Given the description of an element on the screen output the (x, y) to click on. 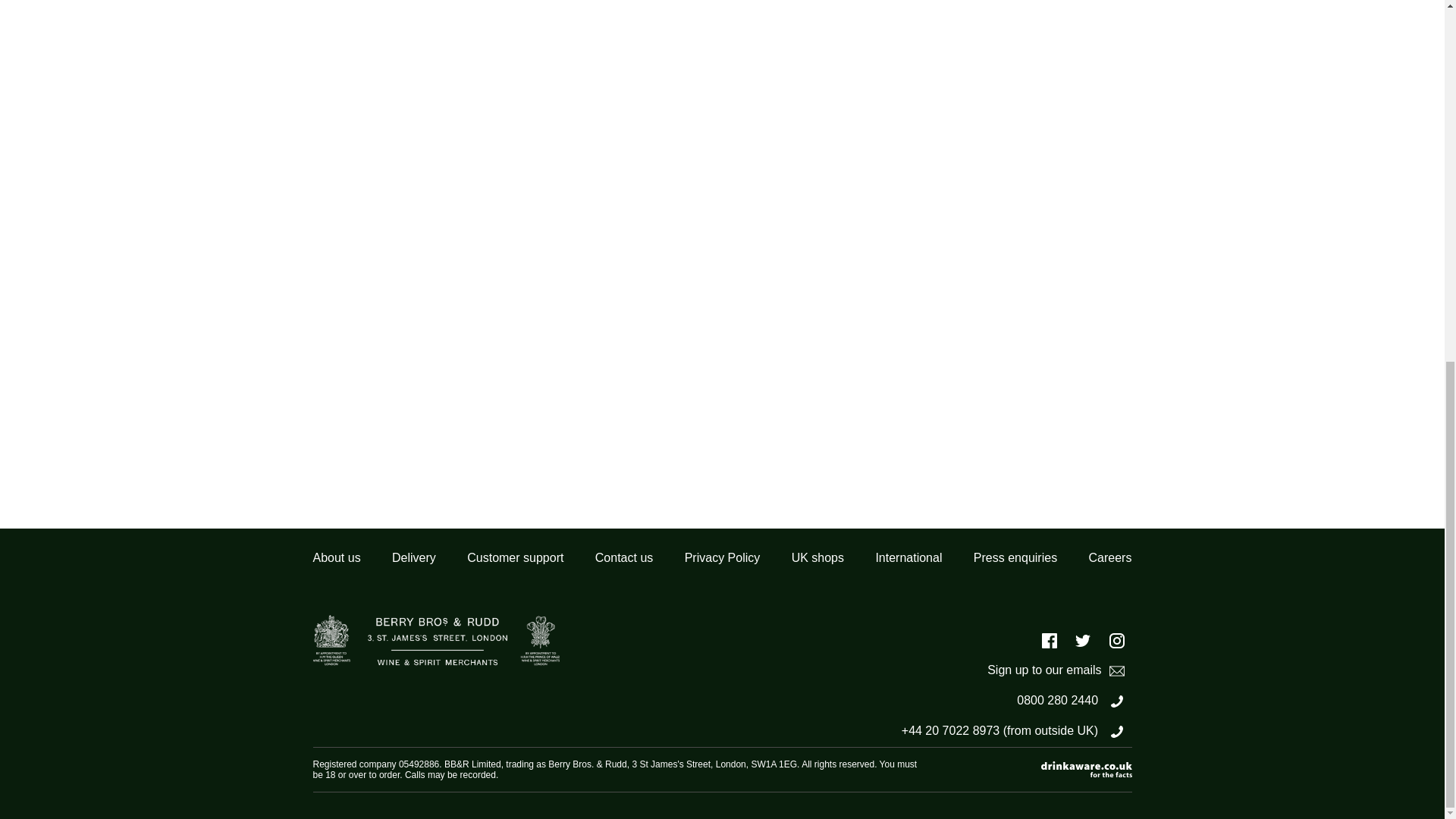
Created with Sketch. (1086, 769)
